Given the description of an element on the screen output the (x, y) to click on. 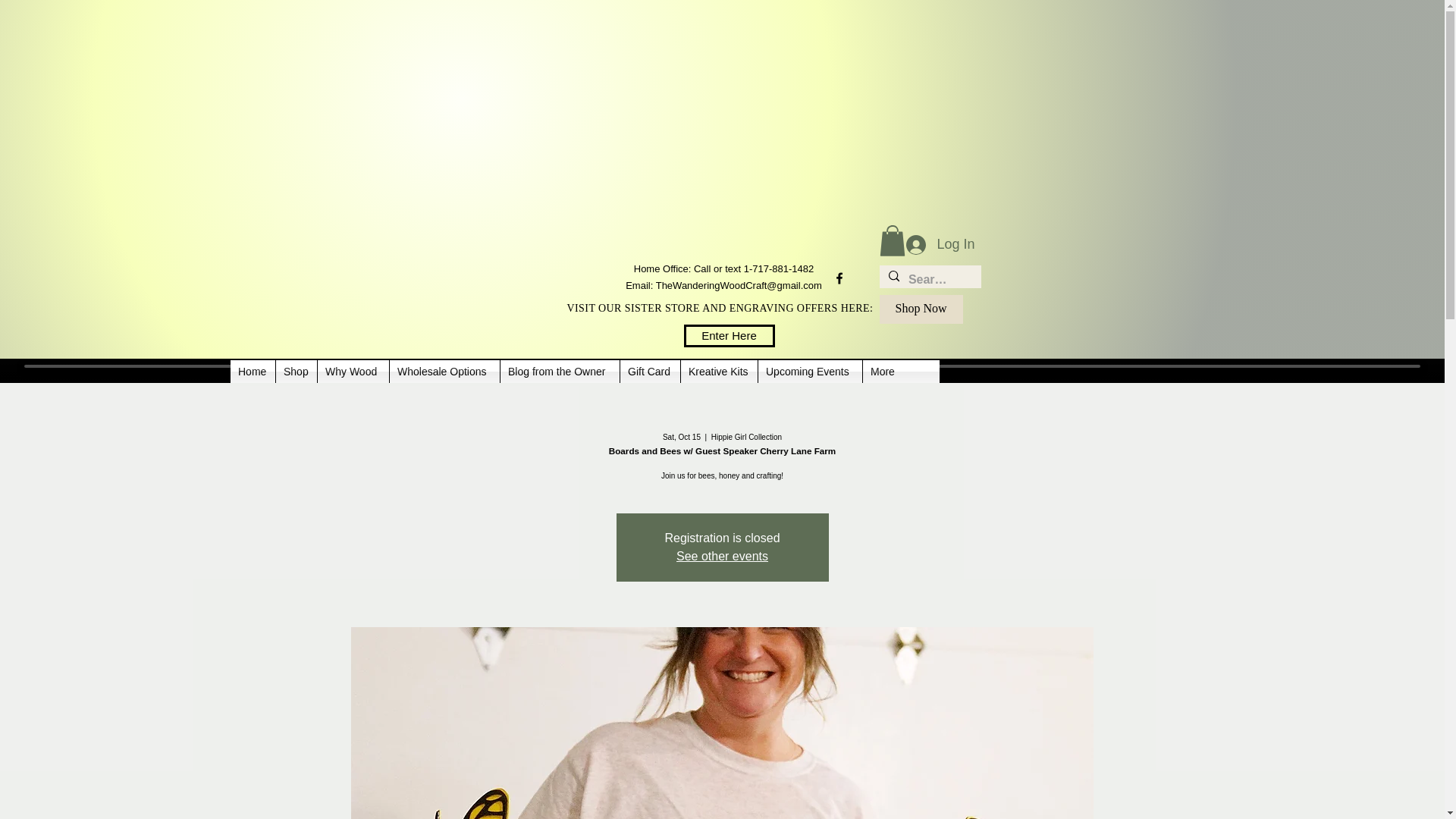
Home (252, 371)
Enter Here (729, 335)
Log In (940, 244)
See other events (722, 555)
Shop Now (920, 308)
Upcoming Events (809, 371)
Kreative Kits (719, 371)
Shop (296, 371)
Why Wood (352, 371)
Gift Card (649, 371)
